Given the description of an element on the screen output the (x, y) to click on. 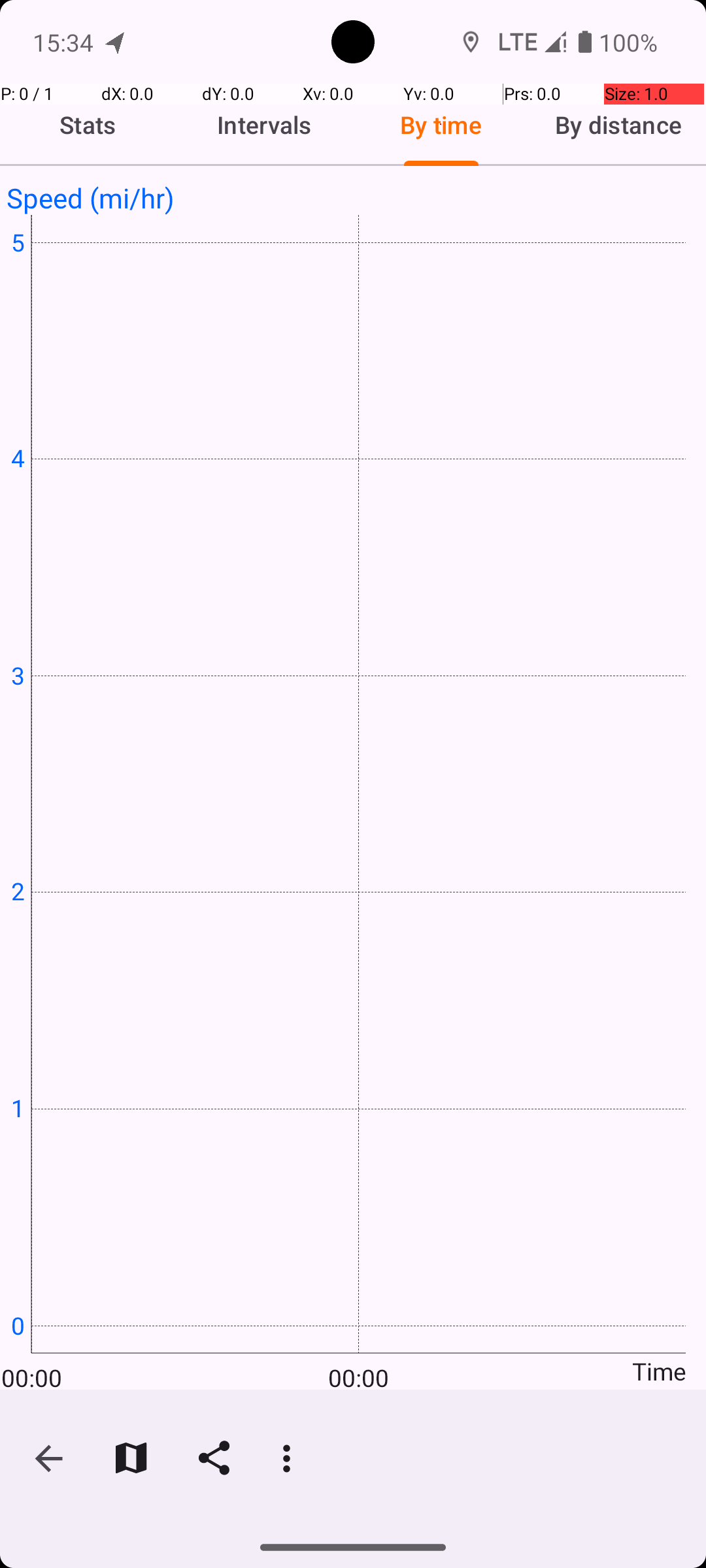
OpenTracks notification:  Element type: android.widget.ImageView (115, 41)
